Given the description of an element on the screen output the (x, y) to click on. 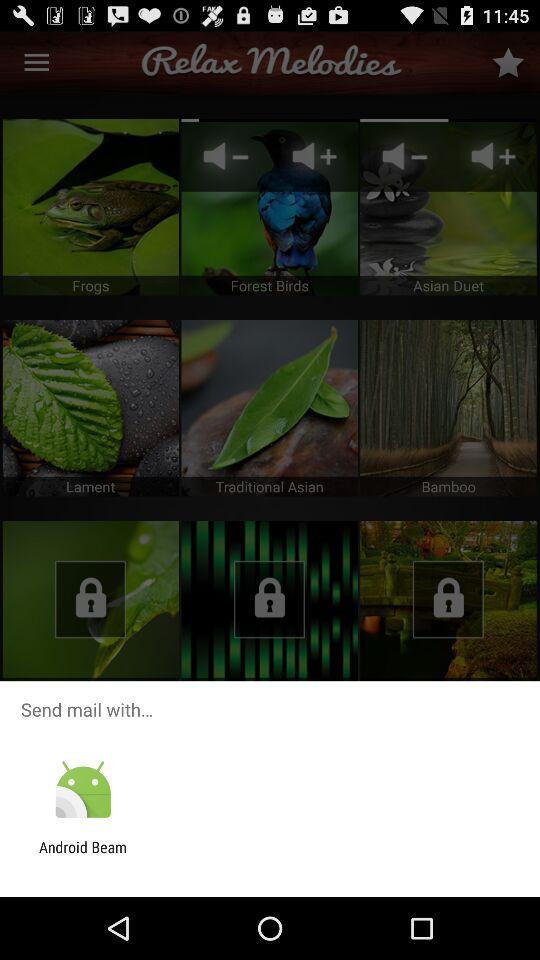
tap the android beam icon (83, 856)
